Given the description of an element on the screen output the (x, y) to click on. 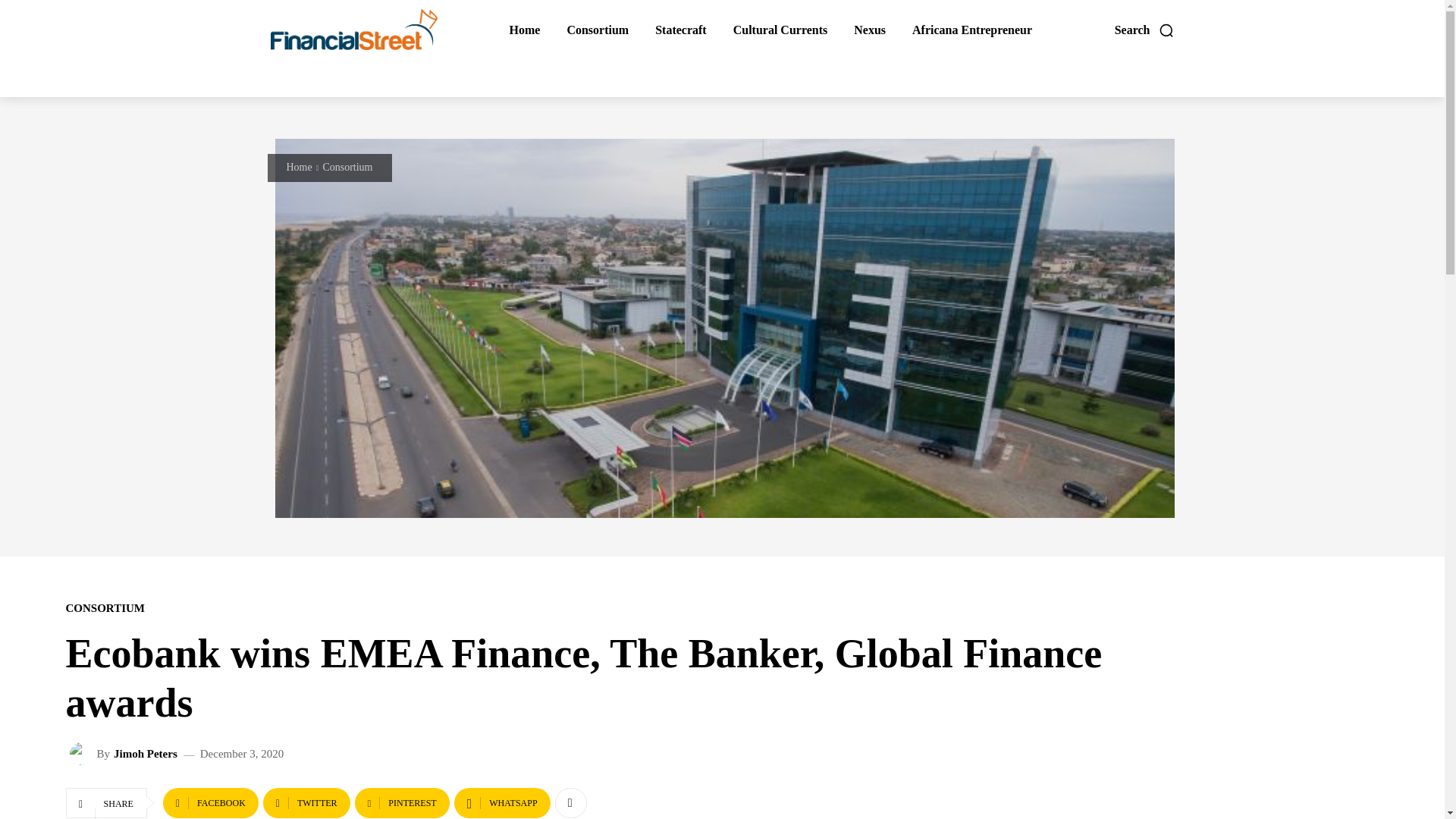
Nexus (869, 30)
TWITTER (306, 802)
Home (524, 30)
WhatsApp (502, 802)
View all posts in Consortium (346, 166)
More (570, 802)
Twitter (306, 802)
Jimoh Peters (145, 754)
Search (1144, 30)
Jimoh Peters (83, 753)
Africana Entrepreneur (971, 30)
Pinterest (402, 802)
Home (299, 166)
Statecraft (680, 30)
